Given the description of an element on the screen output the (x, y) to click on. 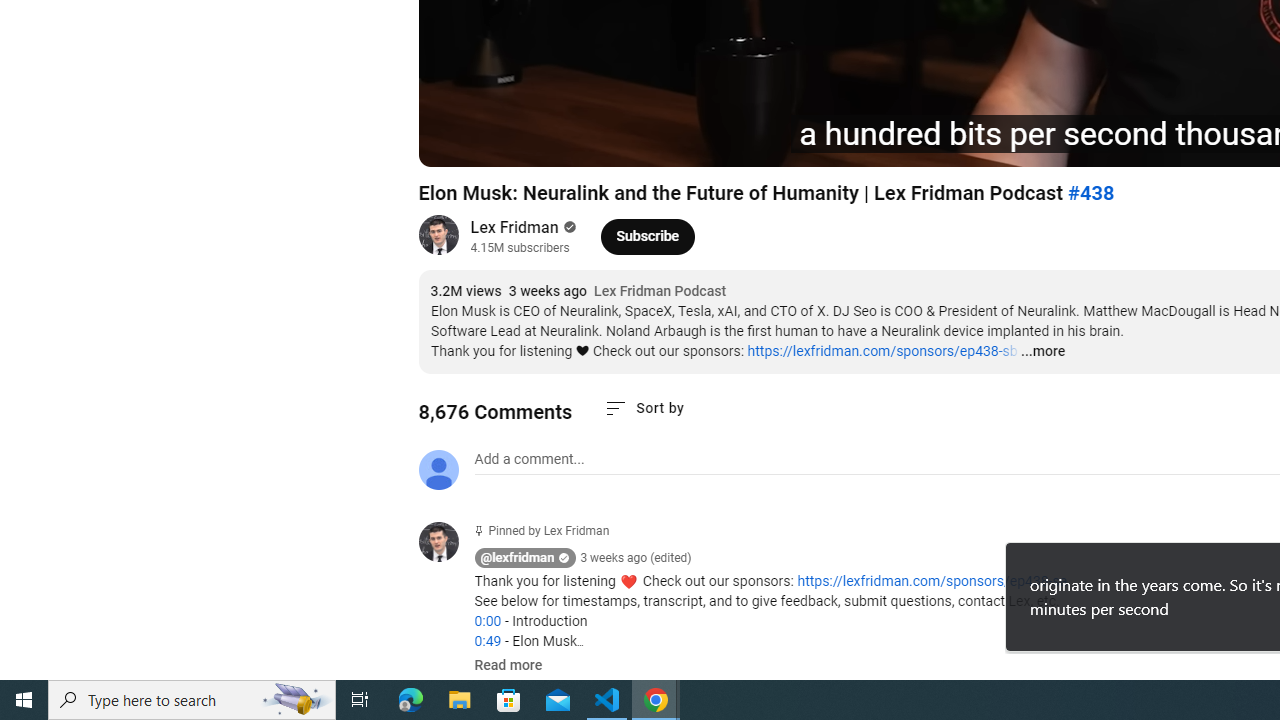
AutomationID: simplebox-placeholder (528, 459)
Play (k) (453, 142)
Default profile photo (438, 470)
Subscribe to Lex Fridman. (648, 236)
Next (SHIFT+n) (500, 142)
Lex Fridman Podcast (660, 291)
@lexfridman (446, 543)
